Given the description of an element on the screen output the (x, y) to click on. 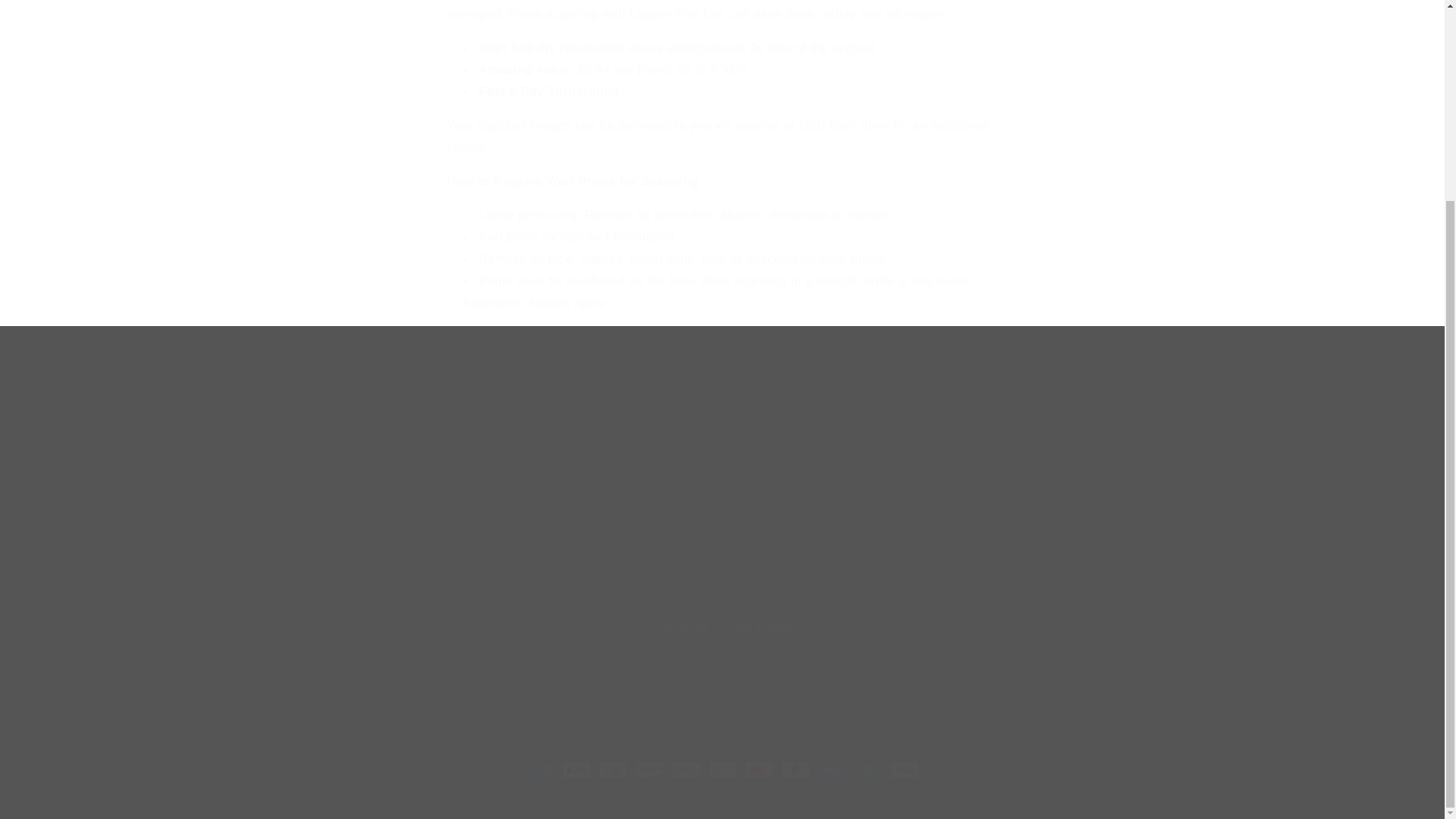
YouTube (379, 589)
Instagram (721, 653)
Develop Film (345, 589)
TikTok (618, 427)
Facebook (412, 589)
